Given the description of an element on the screen output the (x, y) to click on. 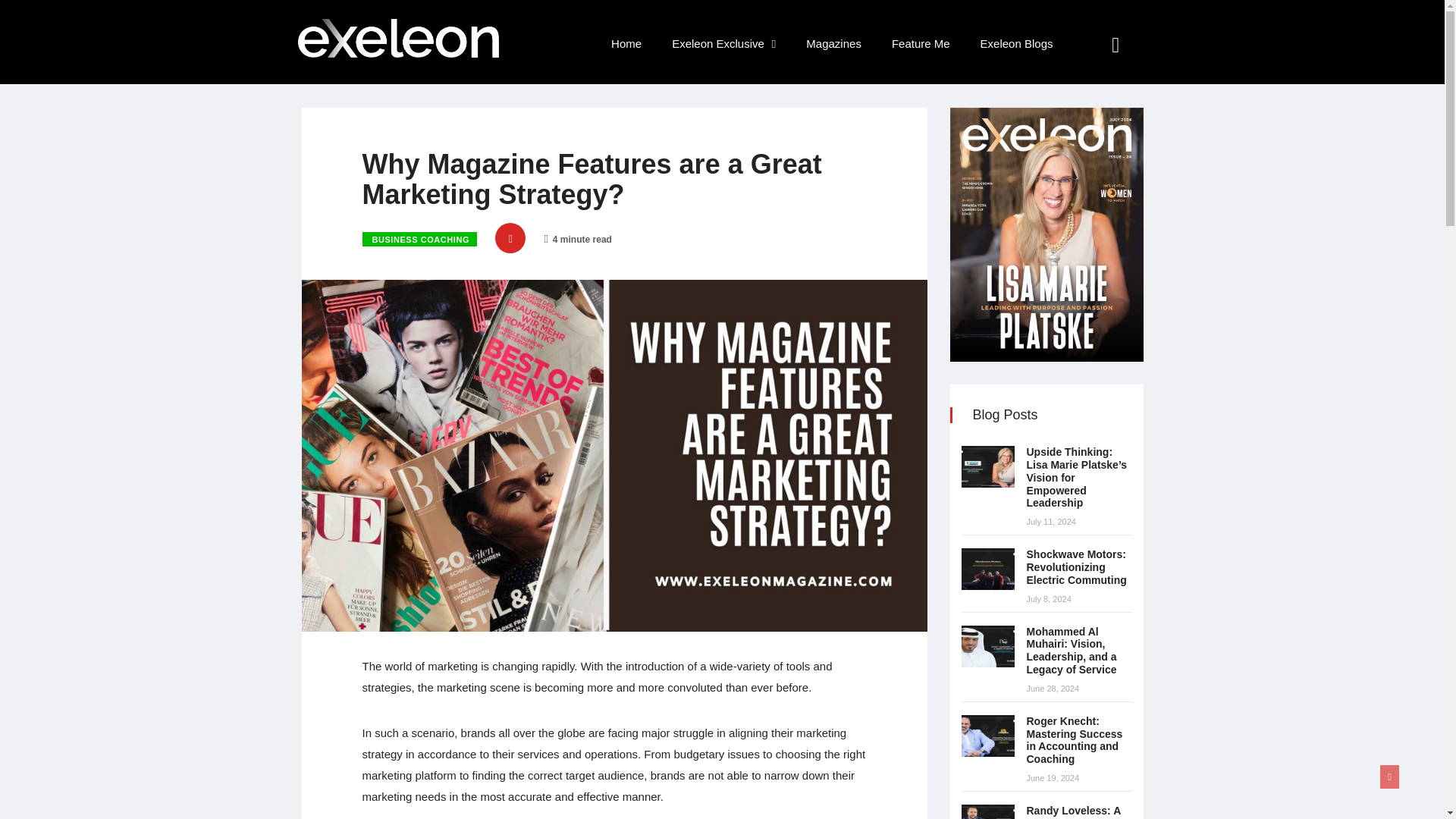
Shockwave Motors: Revolutionizing Electric Commuting (1076, 566)
Shockwave Motors: Revolutionizing Electric Commuting (1076, 566)
Roger Knecht: Mastering Success in Accounting and Coaching (1074, 739)
Randy Loveless: A Catalyst in Legal Nurse Consulting (987, 811)
Randy Loveless: A Catalyst in Legal Nurse Consulting (1073, 811)
Exeleon Blogs (1016, 43)
Latest Cover (1045, 234)
Shockwave Motors: Revolutionizing Electric Commuting (987, 568)
Feature Me (920, 43)
Exeleon Exclusive (723, 43)
Roger Knecht: Mastering Success in Accounting and Coaching (987, 735)
Magazines (833, 43)
